Given the description of an element on the screen output the (x, y) to click on. 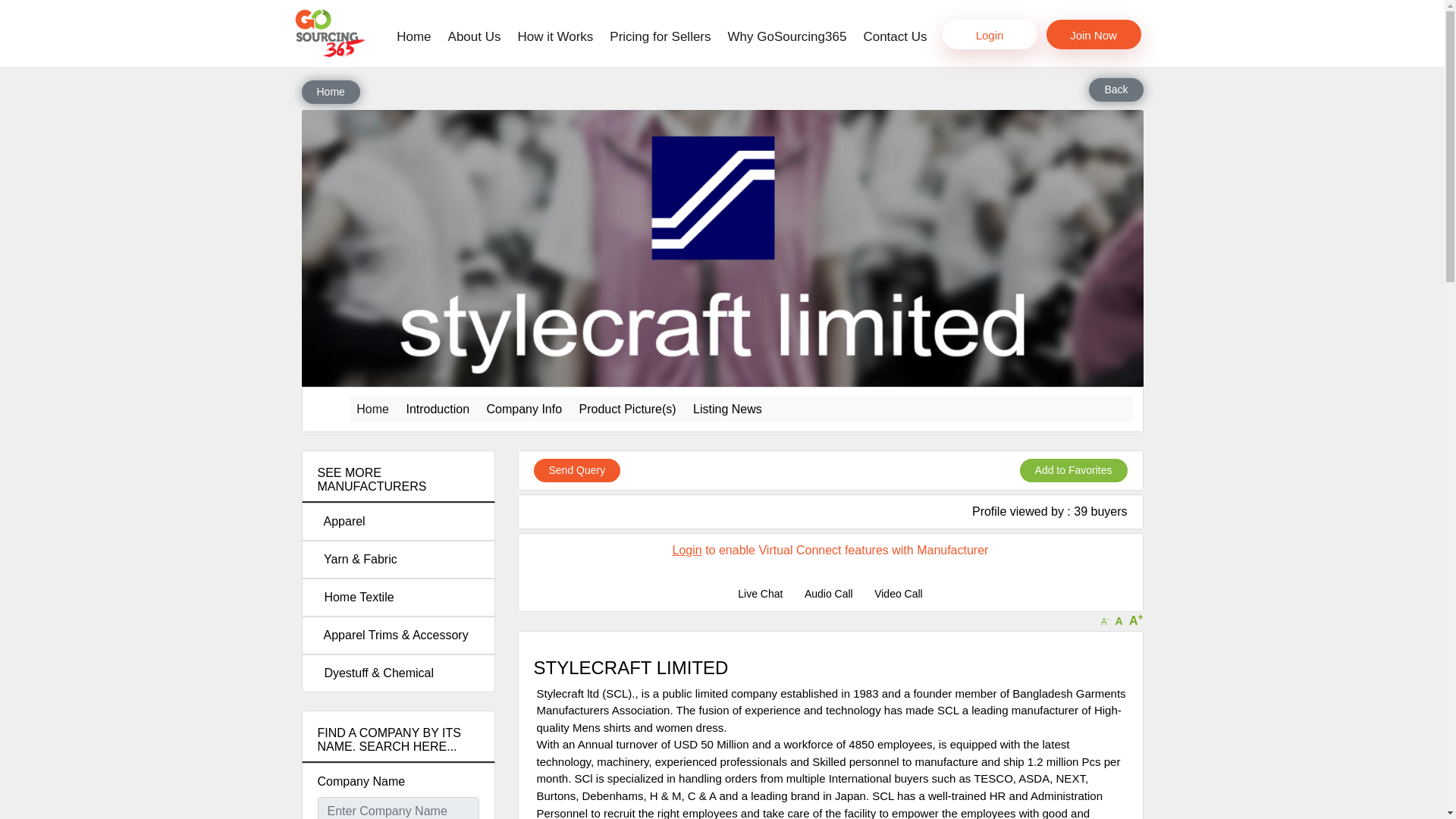
Login (686, 549)
Company Info (524, 408)
Home (330, 92)
About Us (474, 37)
Product Picture (627, 408)
Why GoSourcing365 (787, 37)
Contact Us (895, 37)
  Apparel (397, 521)
Listing News (726, 408)
Introduction (437, 408)
